Given the description of an element on the screen output the (x, y) to click on. 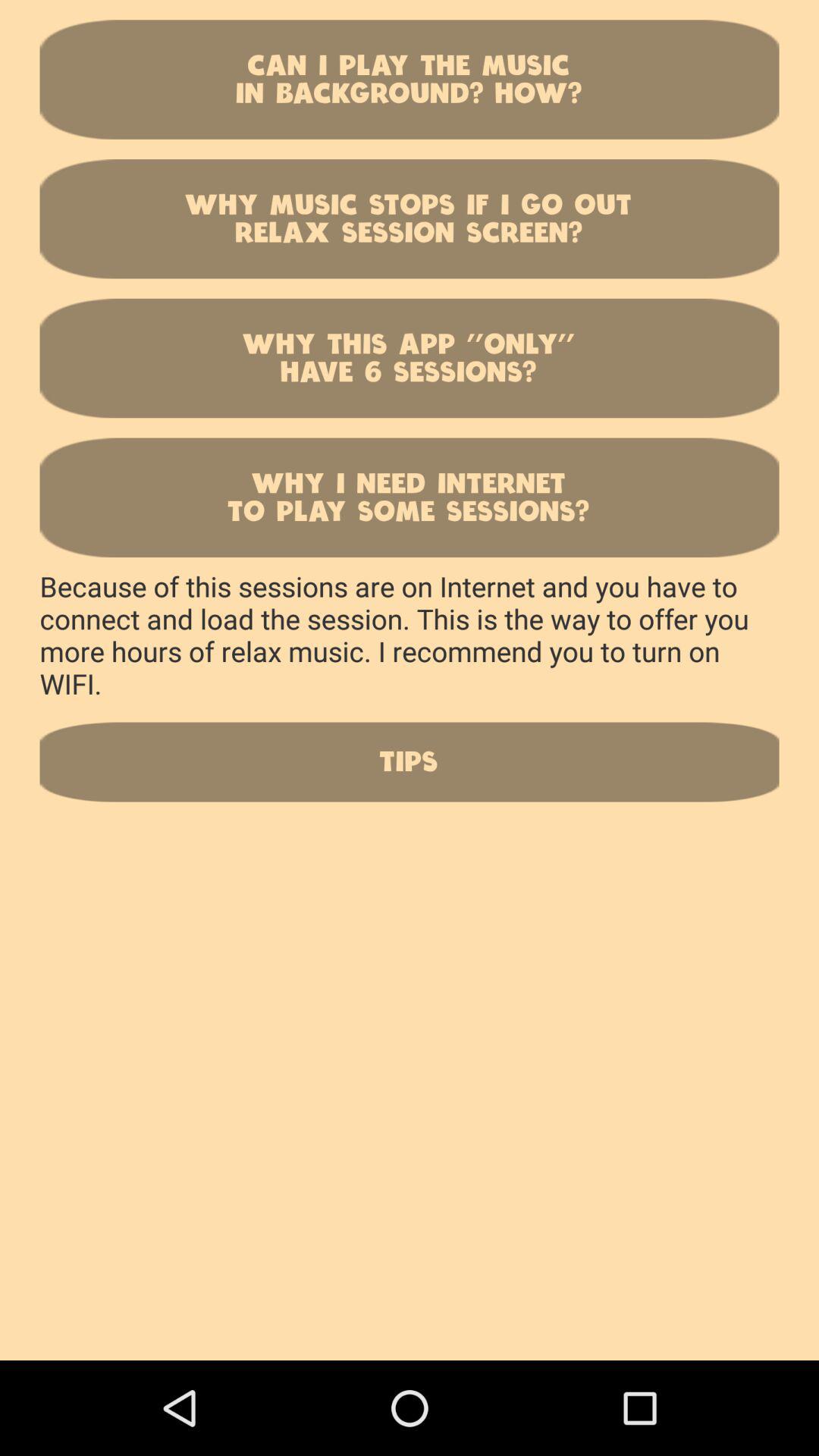
scroll until why music stops icon (409, 218)
